Given the description of an element on the screen output the (x, y) to click on. 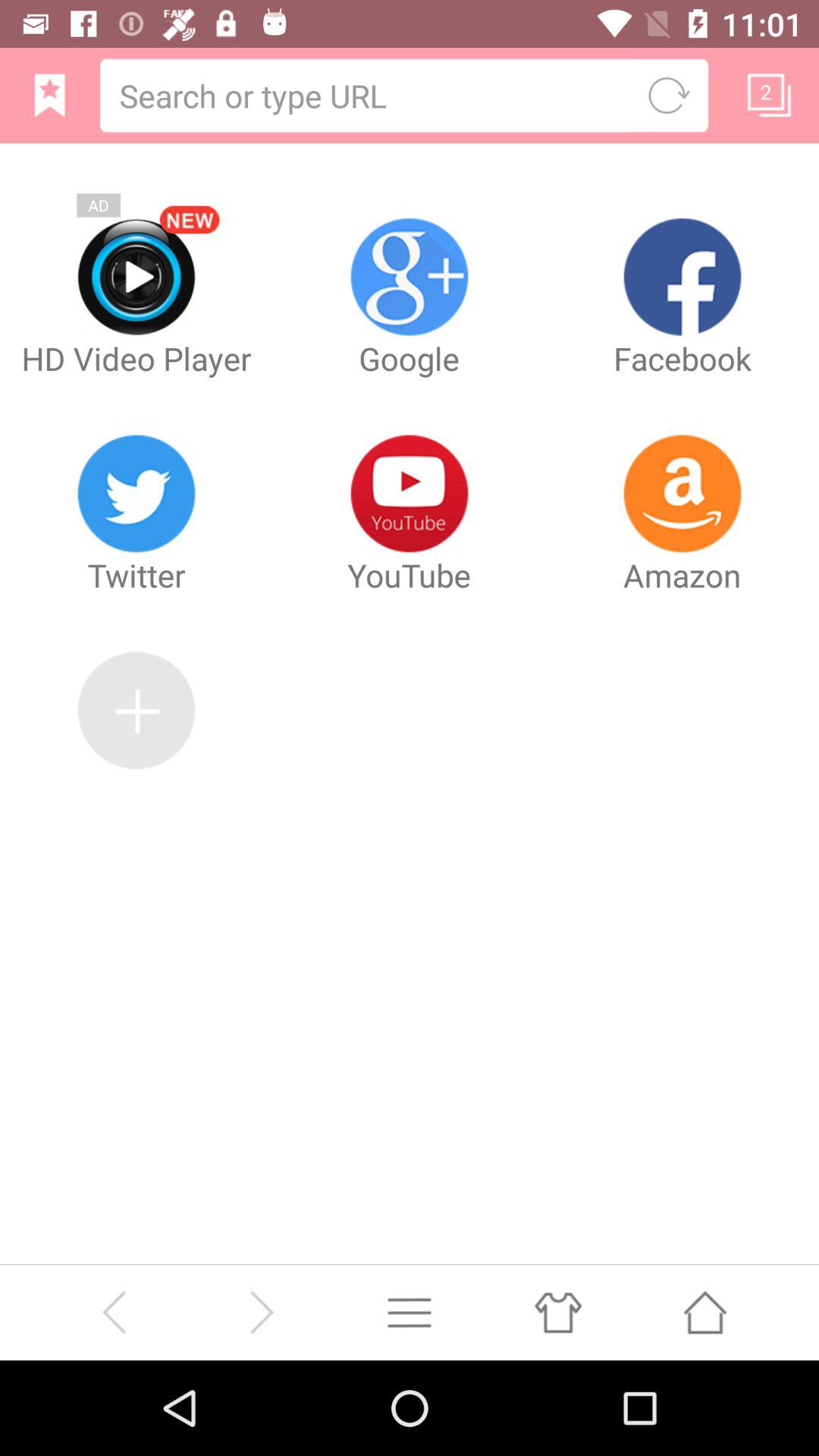
go to next (261, 1312)
